Given the description of an element on the screen output the (x, y) to click on. 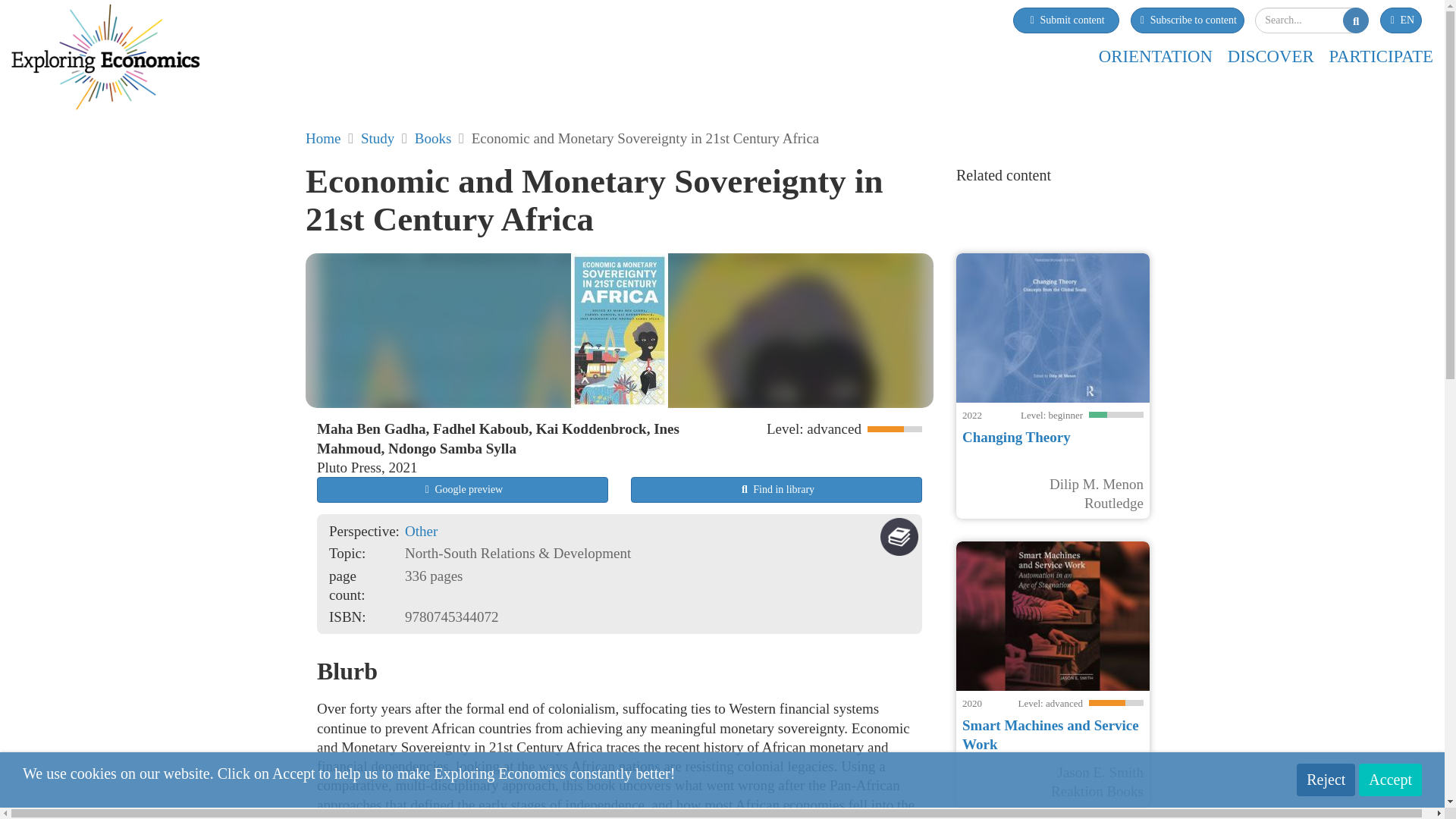
DISCOVER (1270, 56)
PARTICIPATE (1379, 56)
Submit content (1066, 20)
Books (432, 138)
Find in library (775, 489)
Google preview (462, 489)
Study (377, 138)
Other (421, 530)
Home (322, 138)
Subscribe to content (1186, 20)
EN (1401, 20)
ORIENTATION (1155, 56)
